Given the description of an element on the screen output the (x, y) to click on. 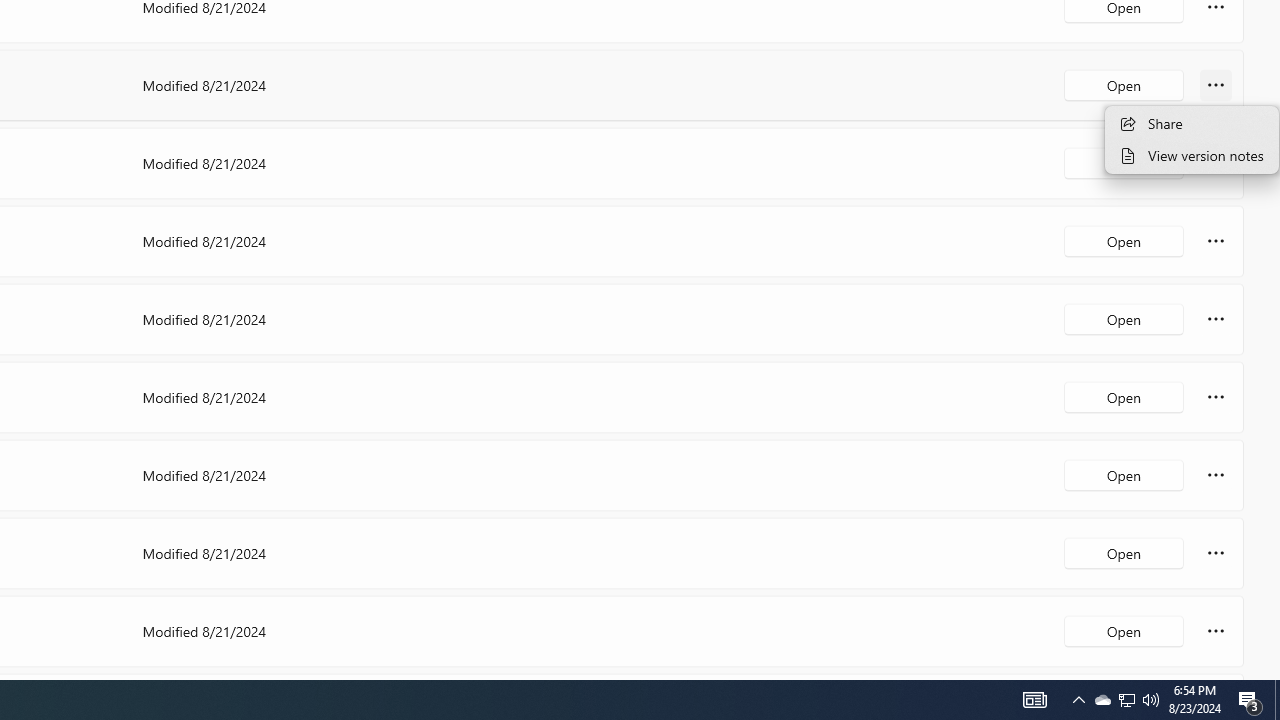
More options (1215, 630)
Open (1123, 630)
